Given the description of an element on the screen output the (x, y) to click on. 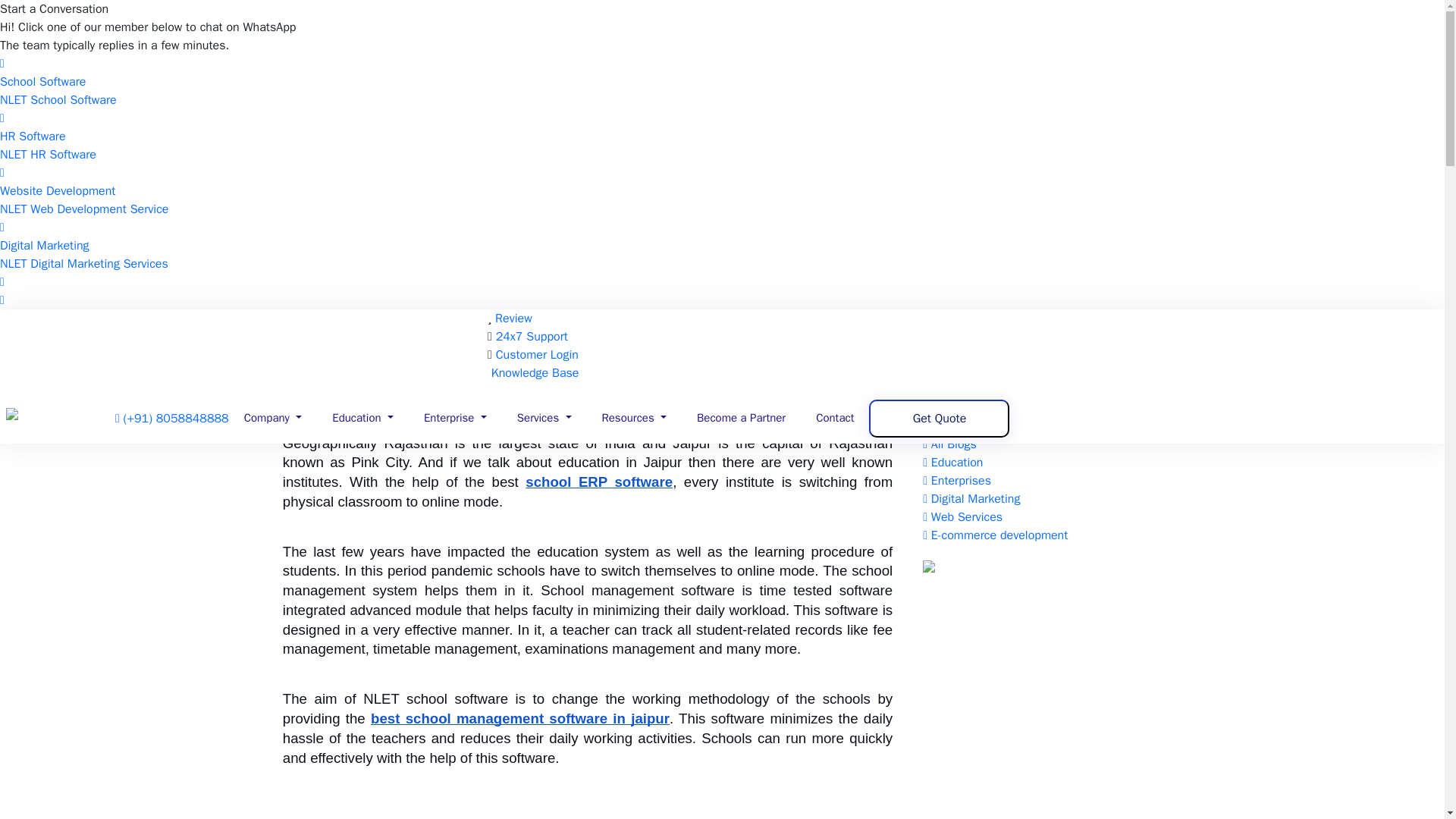
Enterprise (455, 418)
Knowledge Base (535, 372)
Company (272, 418)
Services (544, 418)
24x7 Support (531, 336)
Education (363, 418)
Customer Login (537, 354)
Review (513, 318)
